Given the description of an element on the screen output the (x, y) to click on. 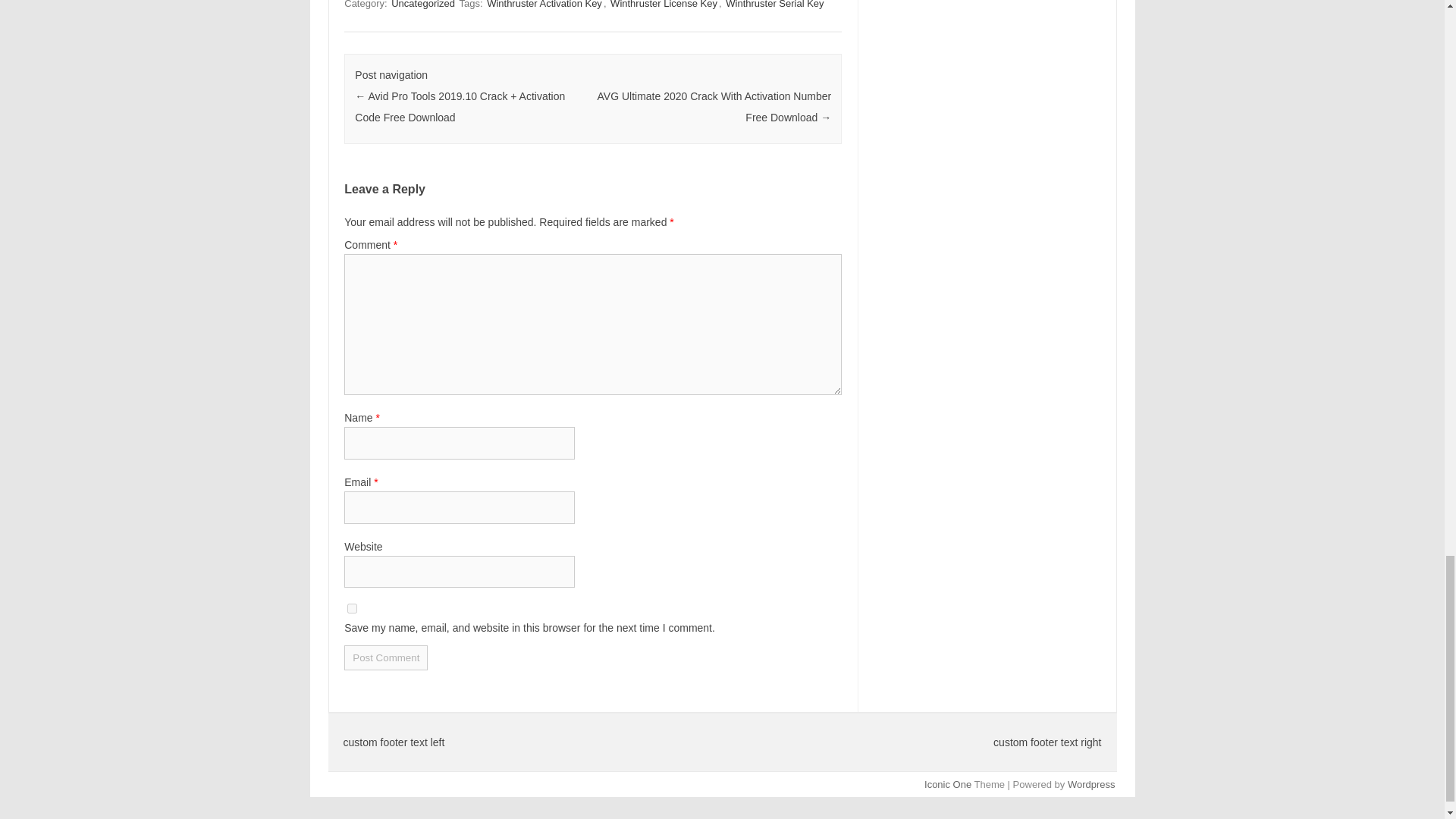
Iconic One (947, 784)
Winthruster Activation Key (544, 5)
Winthruster Serial Key (774, 5)
Post Comment (385, 657)
Wordpress (1091, 784)
Winthruster License Key (663, 5)
Uncategorized (423, 5)
yes (351, 608)
Post Comment (385, 657)
